Given the description of an element on the screen output the (x, y) to click on. 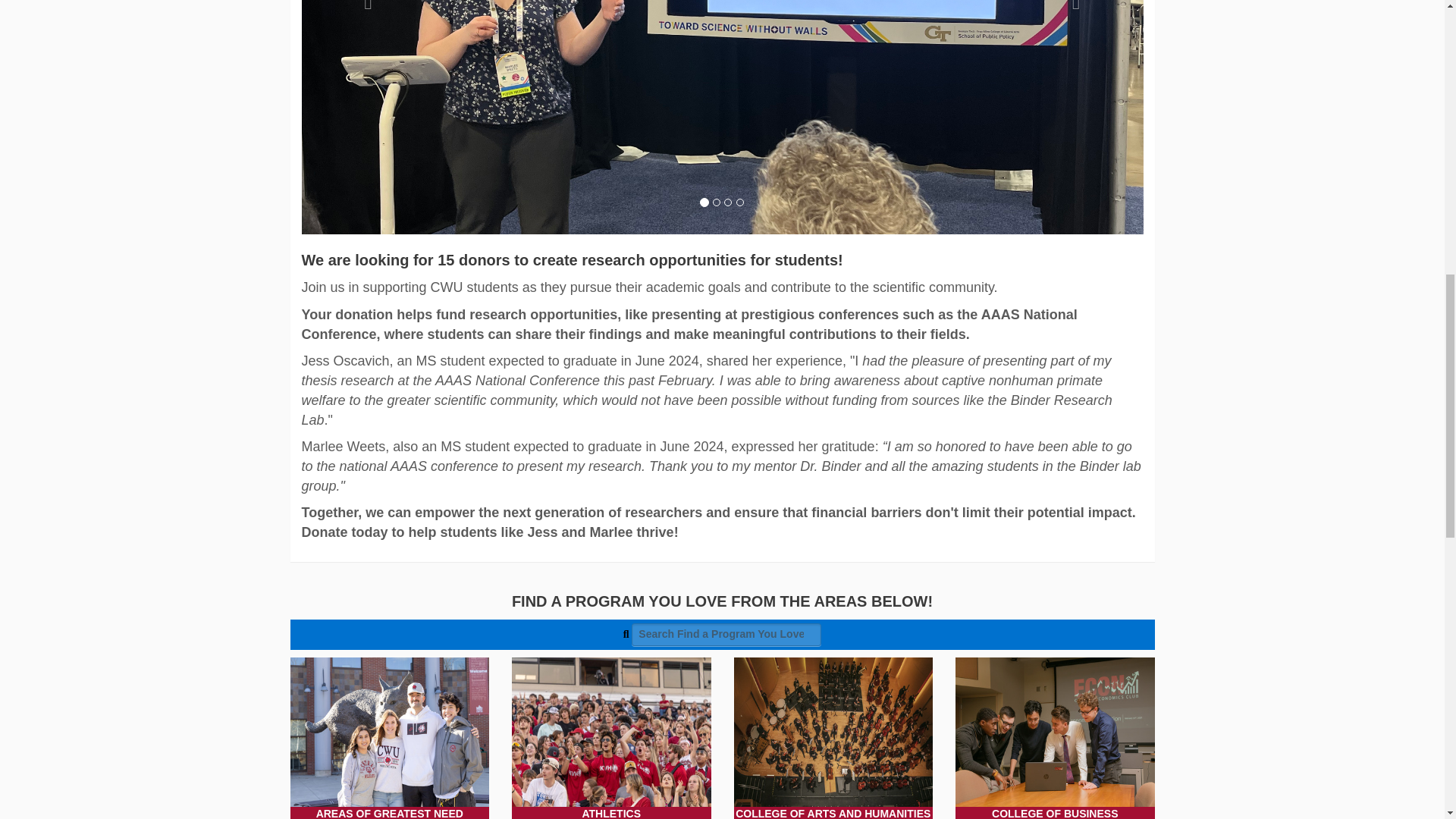
ATHLETICS (611, 738)
COLLEGE OF ARTS AND HUMANITIES (832, 738)
COLLEGE OF BUSINESS (1054, 738)
AREAS OF GREATEST NEED (389, 738)
